Given the description of an element on the screen output the (x, y) to click on. 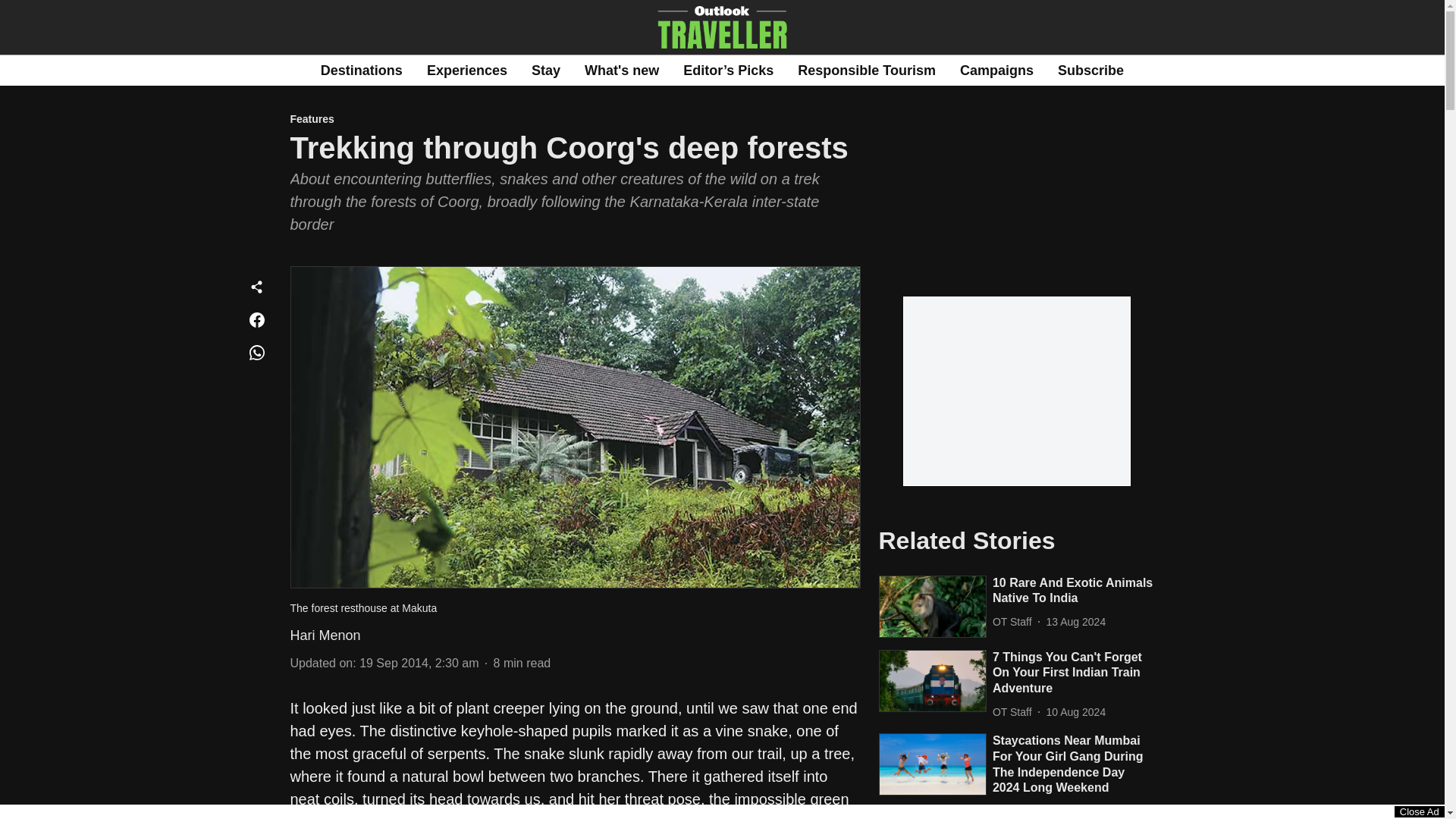
Experiences (466, 70)
Responsible Tourism (866, 70)
Stay (545, 70)
Hari Menon (324, 635)
Features (574, 119)
2024-08-13 11:07 (1076, 621)
2024-08-10 06:59 (1076, 712)
What's new (622, 70)
Subscribe (1091, 70)
Destinations (361, 70)
